Given the description of an element on the screen output the (x, y) to click on. 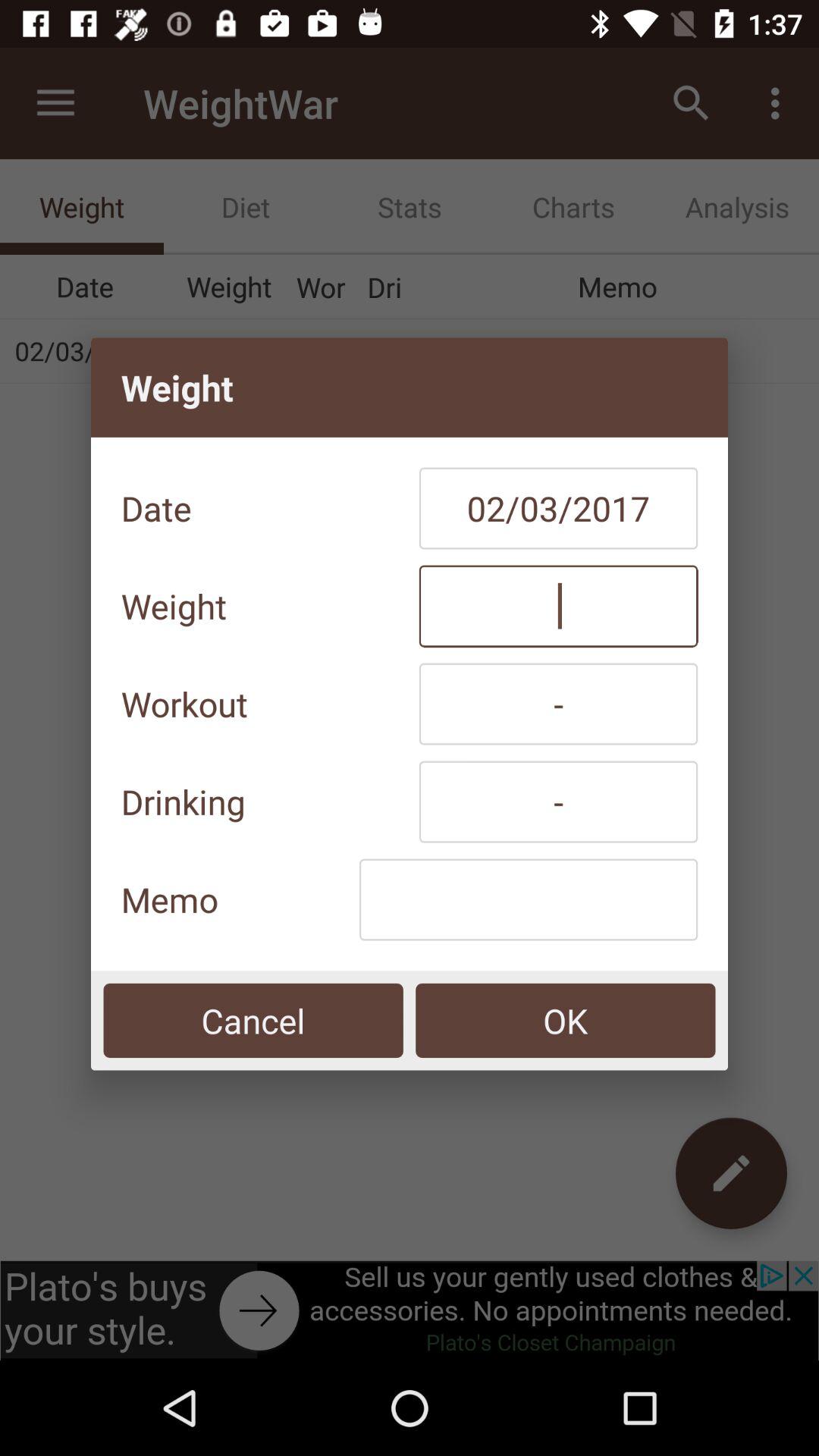
choose item to the right of workout icon (558, 704)
